Given the description of an element on the screen output the (x, y) to click on. 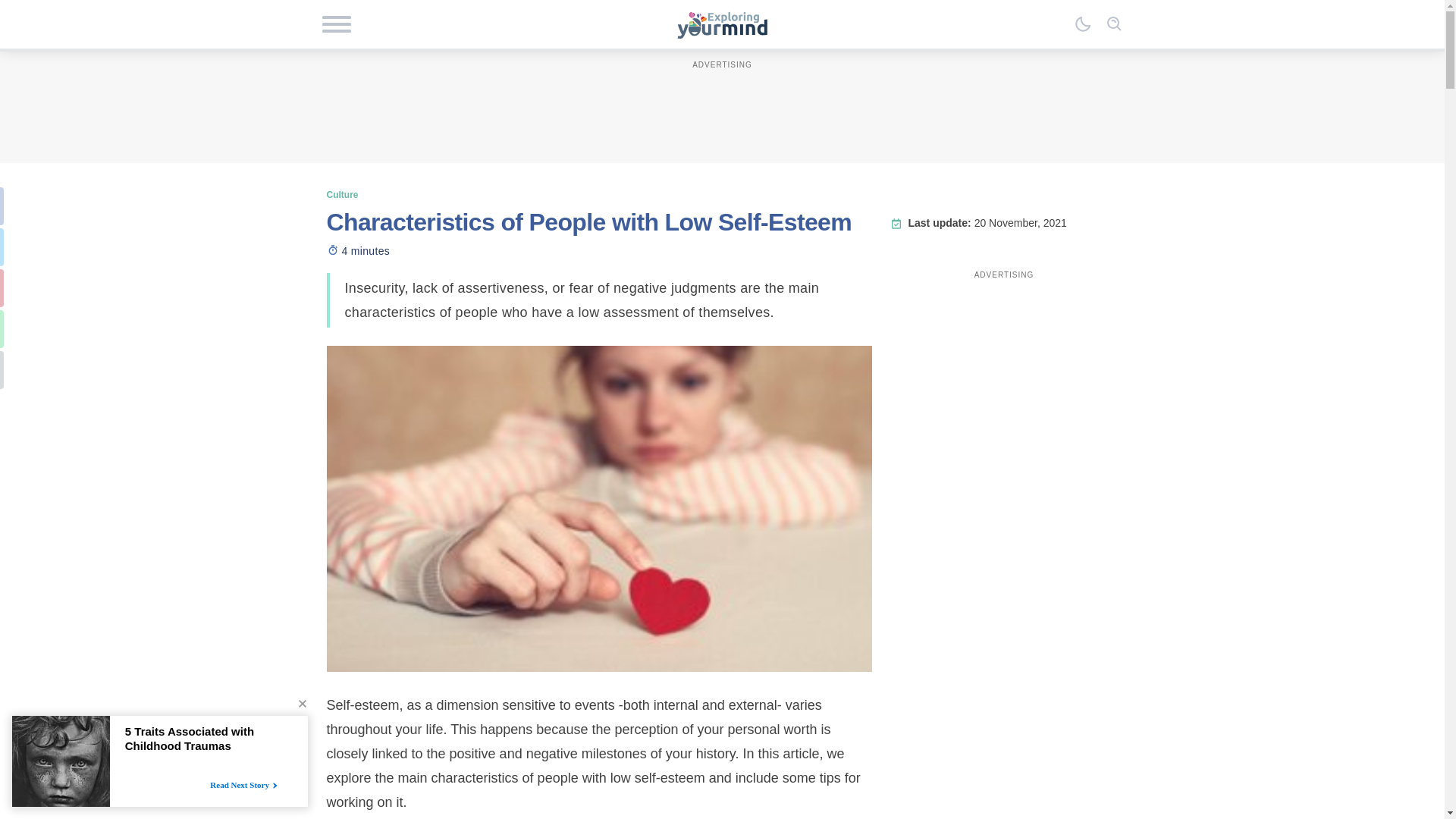
3rd party ad content (721, 106)
Culture (342, 193)
Culture (342, 193)
